Given the description of an element on the screen output the (x, y) to click on. 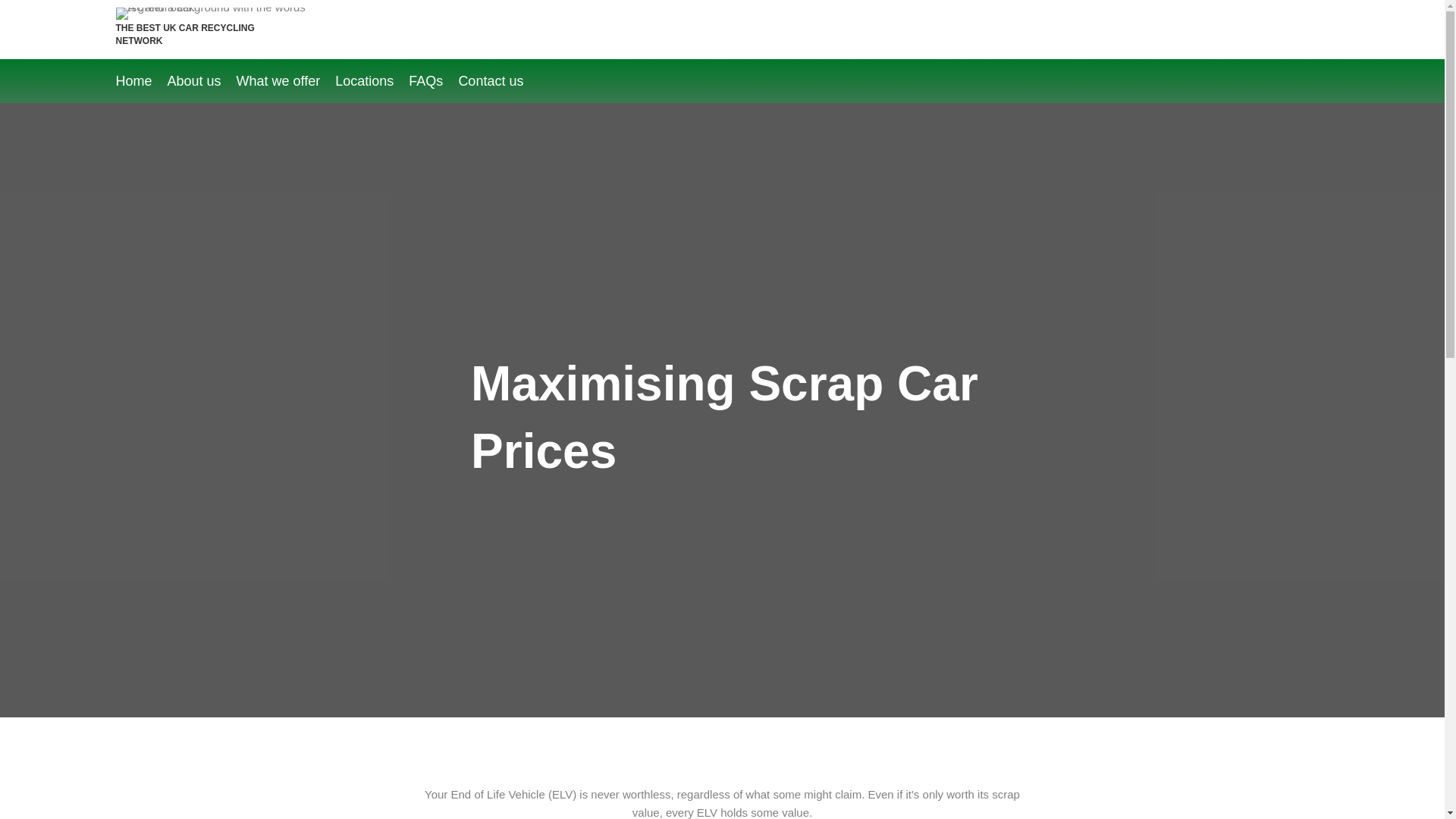
logo (216, 13)
Home (141, 81)
Locations (371, 81)
About us (201, 81)
Contact us (498, 81)
FAQs (433, 81)
What we offer (285, 81)
